Given the description of an element on the screen output the (x, y) to click on. 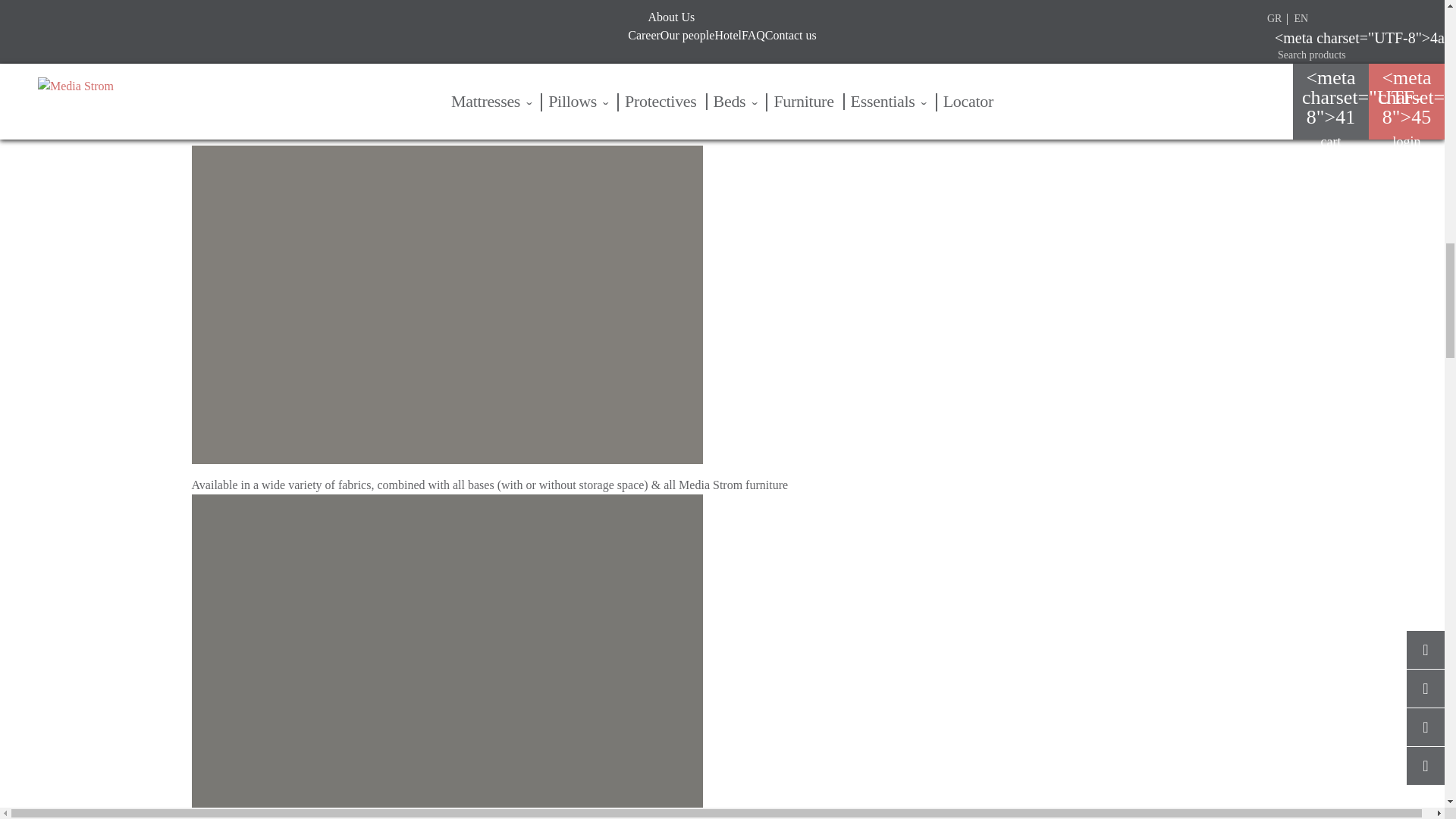
BedStorizzz (265, 43)
